Given the description of an element on the screen output the (x, y) to click on. 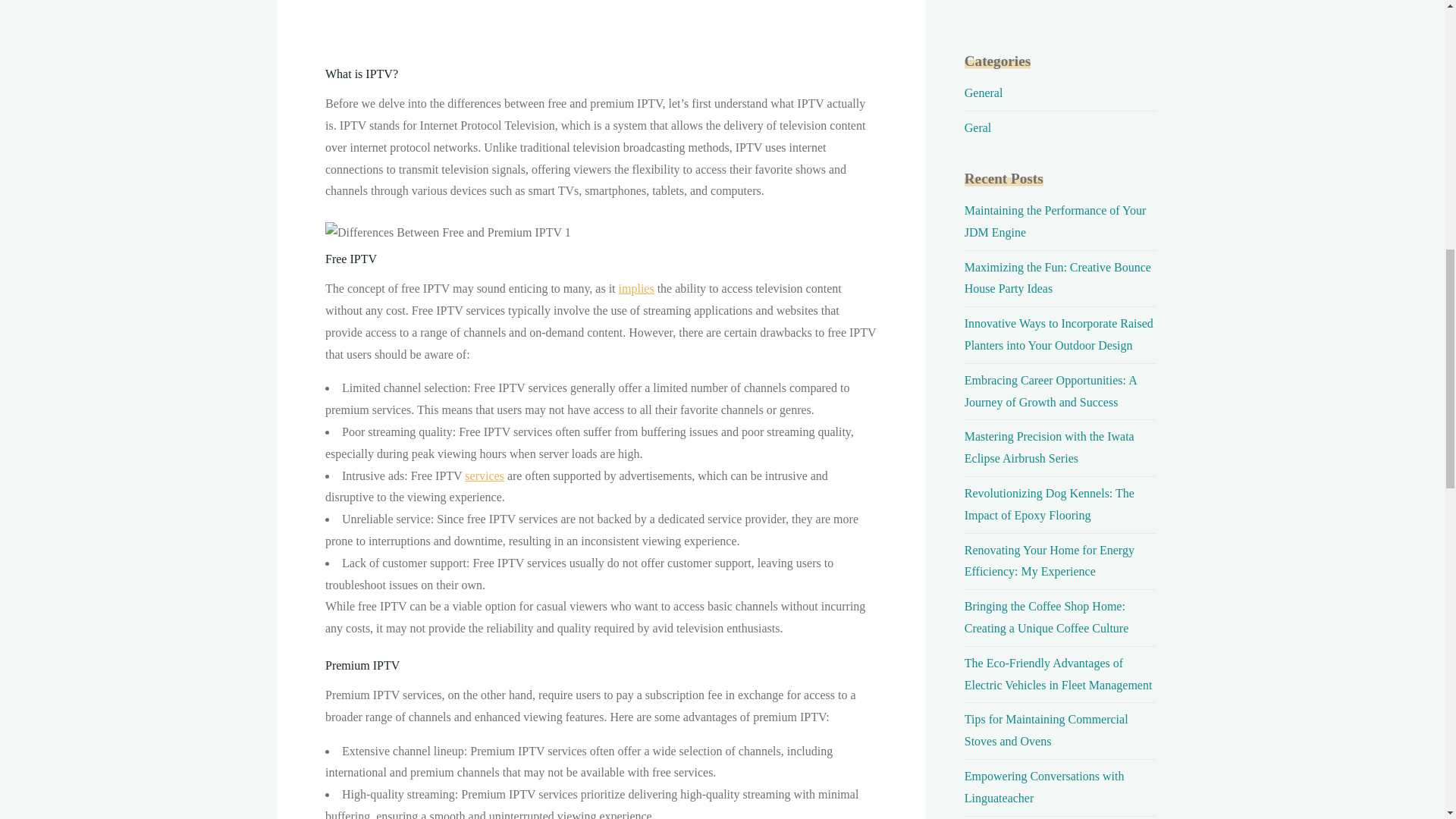
Revolutionizing Dog Kennels: The Impact of Epoxy Flooring (1048, 503)
Empowering Conversations with Linguateacher (1043, 786)
Maximizing the Fun: Creative Bounce House Party Ideas (1057, 278)
Tips for Maintaining Commercial Stoves and Ovens (1045, 729)
services (483, 475)
Mastering Precision with the Iwata Eclipse Airbrush Series (1048, 447)
Maintaining the Performance of Your JDM Engine (1055, 221)
General (983, 92)
implies (635, 287)
Geral (977, 127)
Renovating Your Home for Energy Efficiency: My Experience (1048, 560)
